Given the description of an element on the screen output the (x, y) to click on. 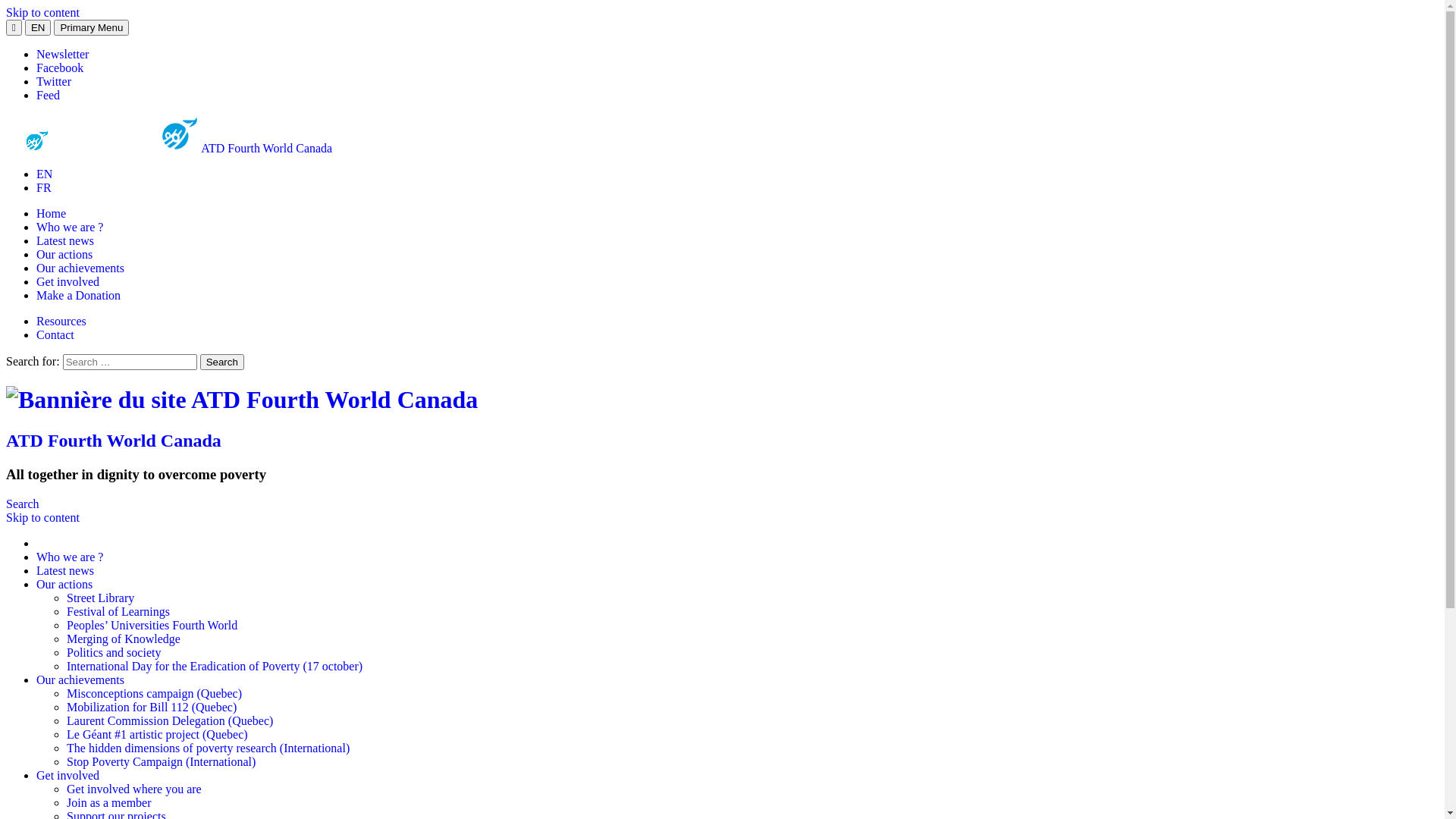
Join as a member Element type: text (108, 802)
Get involved where you are Element type: text (133, 788)
Search Element type: text (22, 503)
ATD Fourth World Canada Element type: text (169, 147)
ATD Fourth World Canada Element type: text (113, 440)
Make a Donation Element type: text (78, 294)
  Element type: text (37, 542)
Twitter Element type: text (53, 81)
EN Element type: text (44, 173)
Facebook Element type: text (59, 67)
Mobilization for Bill 112 (Quebec) Element type: text (151, 706)
Latest news Element type: text (65, 240)
Street Library Element type: text (100, 597)
Stop Poverty Campaign (International) Element type: text (160, 761)
Politics and society Element type: text (113, 652)
The hidden dimensions of poverty research (International) Element type: text (207, 747)
Contact Element type: text (55, 334)
Feed Element type: text (47, 94)
Skip to content Element type: text (42, 12)
Primary Menu Element type: text (90, 27)
Merging of Knowledge Element type: text (123, 638)
Who we are ? Element type: text (69, 556)
Our actions Element type: text (64, 253)
Our achievements Element type: text (80, 679)
Misconceptions campaign (Quebec) Element type: text (153, 693)
Resources Element type: text (61, 320)
Laurent Commission Delegation (Quebec) Element type: text (169, 720)
Skip to content Element type: text (42, 517)
Who we are ? Element type: text (69, 226)
Our actions Element type: text (64, 583)
Get involved Element type: text (67, 774)
FR Element type: text (43, 187)
ATD Fourth World Canada Element type: hover (241, 399)
Newsletter Element type: text (62, 53)
EN Element type: text (38, 27)
Latest news Element type: text (65, 570)
Get involved Element type: text (67, 281)
Search Element type: text (222, 362)
Festival of Learnings Element type: text (117, 611)
Home Element type: text (50, 213)
Our achievements Element type: text (80, 267)
